Given the description of an element on the screen output the (x, y) to click on. 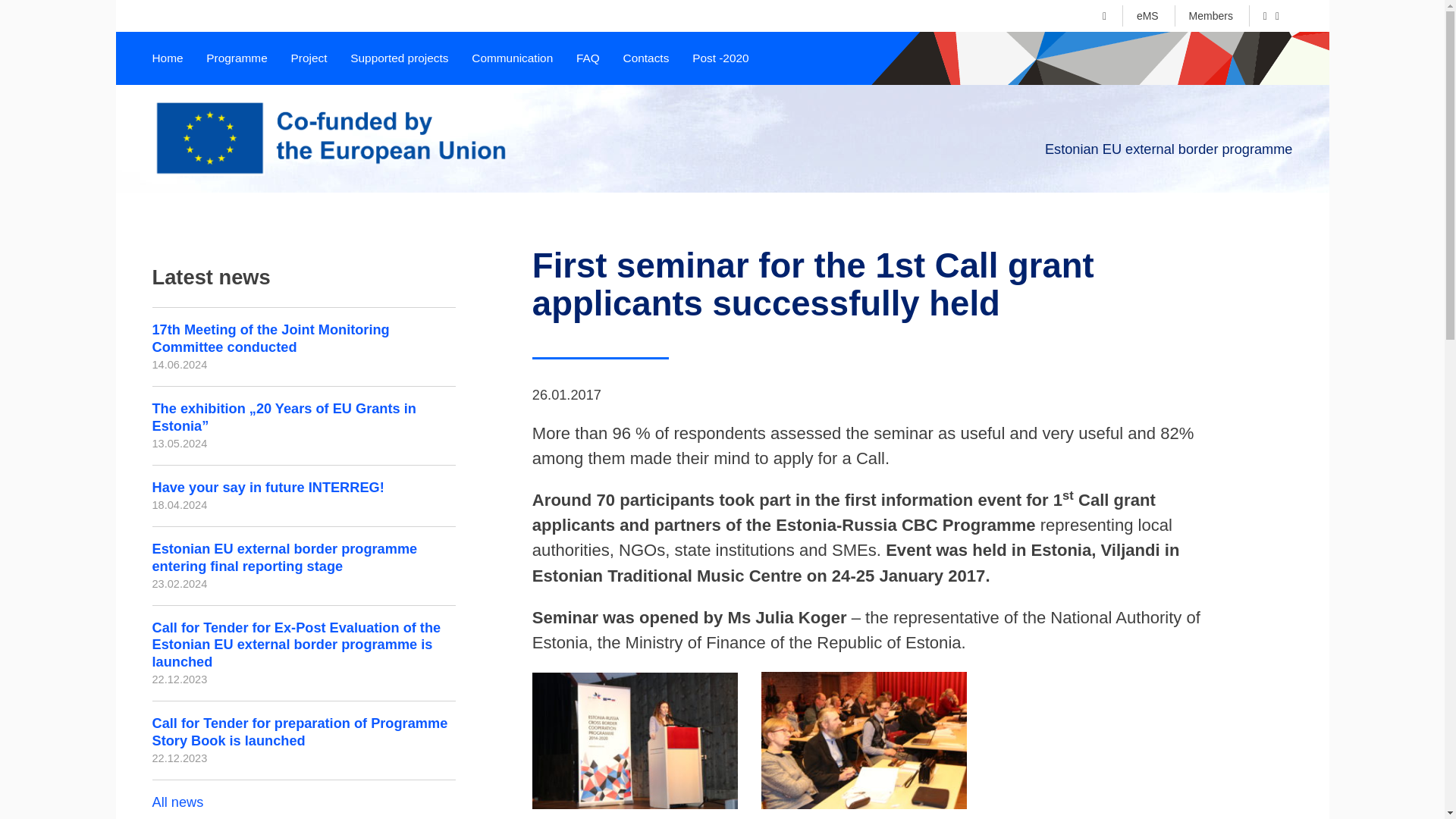
Log In (1138, 205)
All news (177, 801)
17th Meeting of the Joint Monitoring Committee conducted (269, 337)
eMS (1147, 15)
Members (1211, 15)
Programme (236, 58)
Communication (512, 58)
Post -2020 (720, 58)
Supported projects (399, 58)
Have your say in future INTERREG! (267, 487)
